Given the description of an element on the screen output the (x, y) to click on. 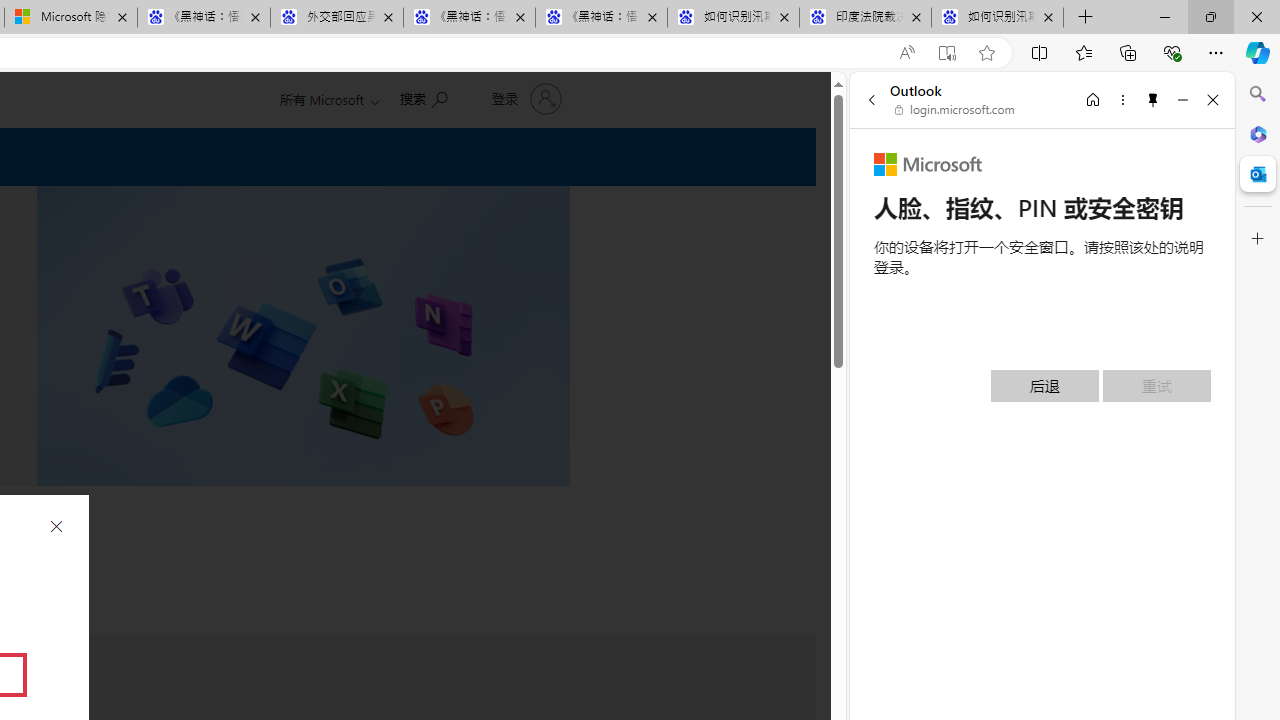
login.microsoft.com (955, 110)
Microsoft (927, 164)
